Given the description of an element on the screen output the (x, y) to click on. 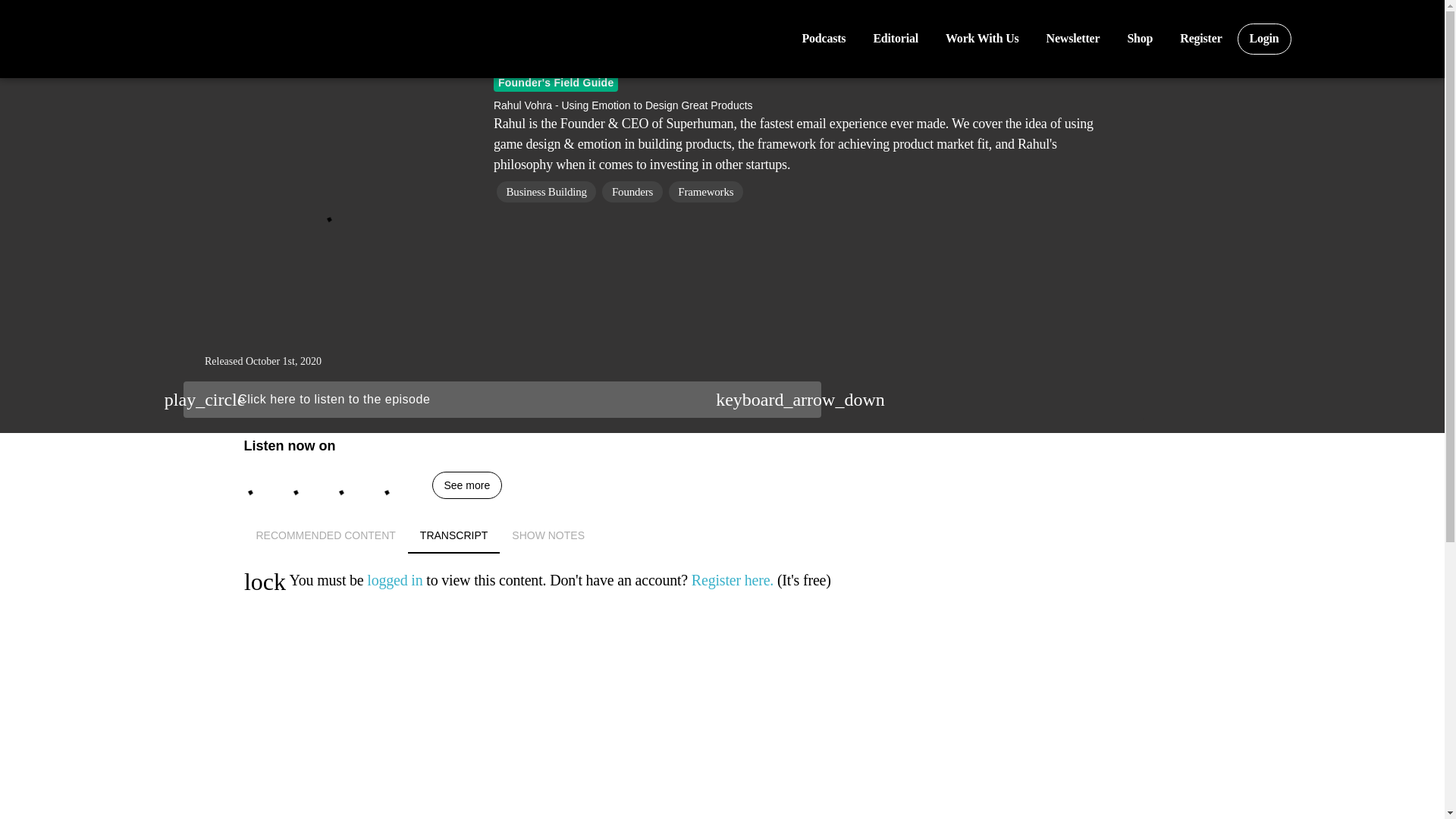
Editorial (895, 38)
TRANSCRIPT (453, 534)
Podcasts (823, 38)
Register (1200, 38)
Newsletter (722, 534)
SHOW NOTES (1072, 38)
RECOMMENDED CONTENT (722, 534)
Login (547, 534)
Work With Us (325, 534)
See more (1264, 38)
Shop (981, 38)
